Given the description of an element on the screen output the (x, y) to click on. 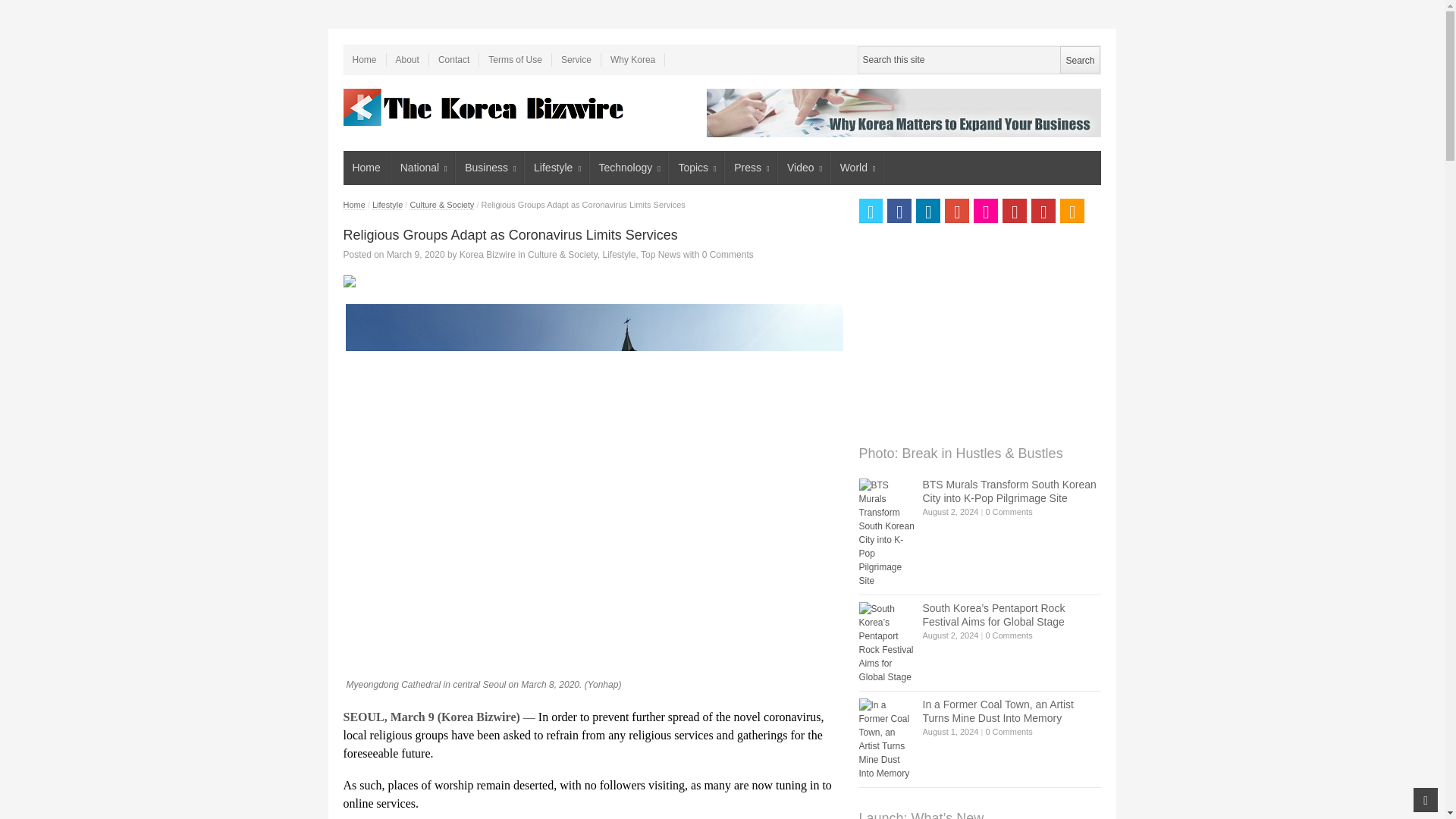
National (422, 167)
Print page (592, 281)
Be Korea-savvy (484, 107)
Search this site (978, 59)
Search (1079, 59)
Home (366, 167)
Search (1079, 59)
Service (576, 59)
Contact (454, 59)
About (408, 59)
1:30 am (416, 254)
View all posts in Lifestyle (618, 254)
Business (489, 167)
View all posts in Top News (660, 254)
